Given the description of an element on the screen output the (x, y) to click on. 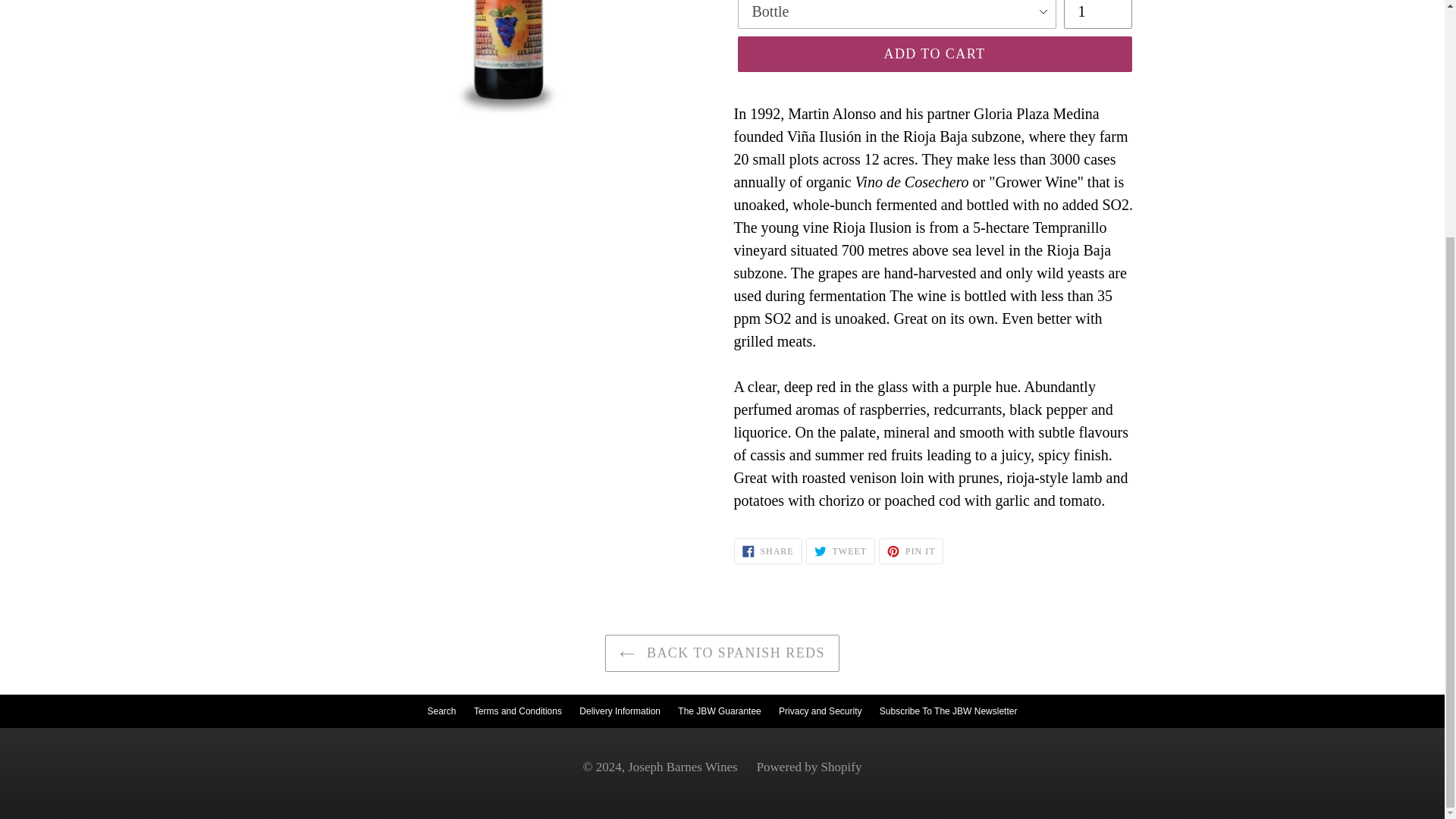
1 (1096, 14)
